Given the description of an element on the screen output the (x, y) to click on. 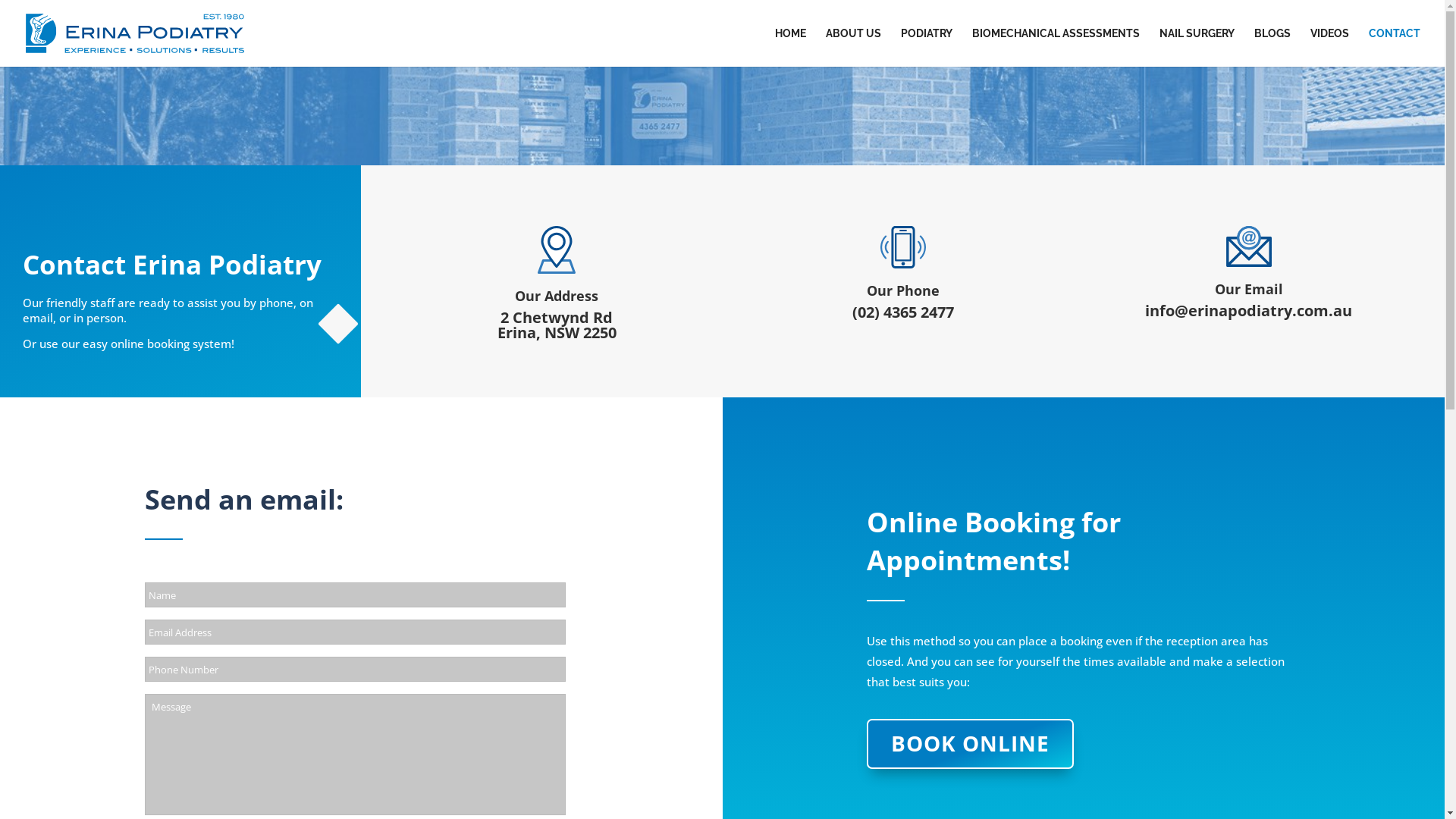
PODIATRY Element type: text (926, 47)
VIDEOS Element type: text (1329, 47)
BLOGS Element type: text (1272, 47)
2 Chetwynd Rd Element type: text (556, 317)
BOOK ONLINE Element type: text (969, 743)
ABOUT US Element type: text (853, 47)
HOME Element type: text (790, 47)
(02) 4365 2477 Element type: text (902, 311)
NAIL SURGERY Element type: text (1196, 47)
CONTACT Element type: text (1394, 47)
info@erinapodiatry.com.au Element type: text (1248, 310)
BIOMECHANICAL ASSESSMENTS Element type: text (1055, 47)
